Given the description of an element on the screen output the (x, y) to click on. 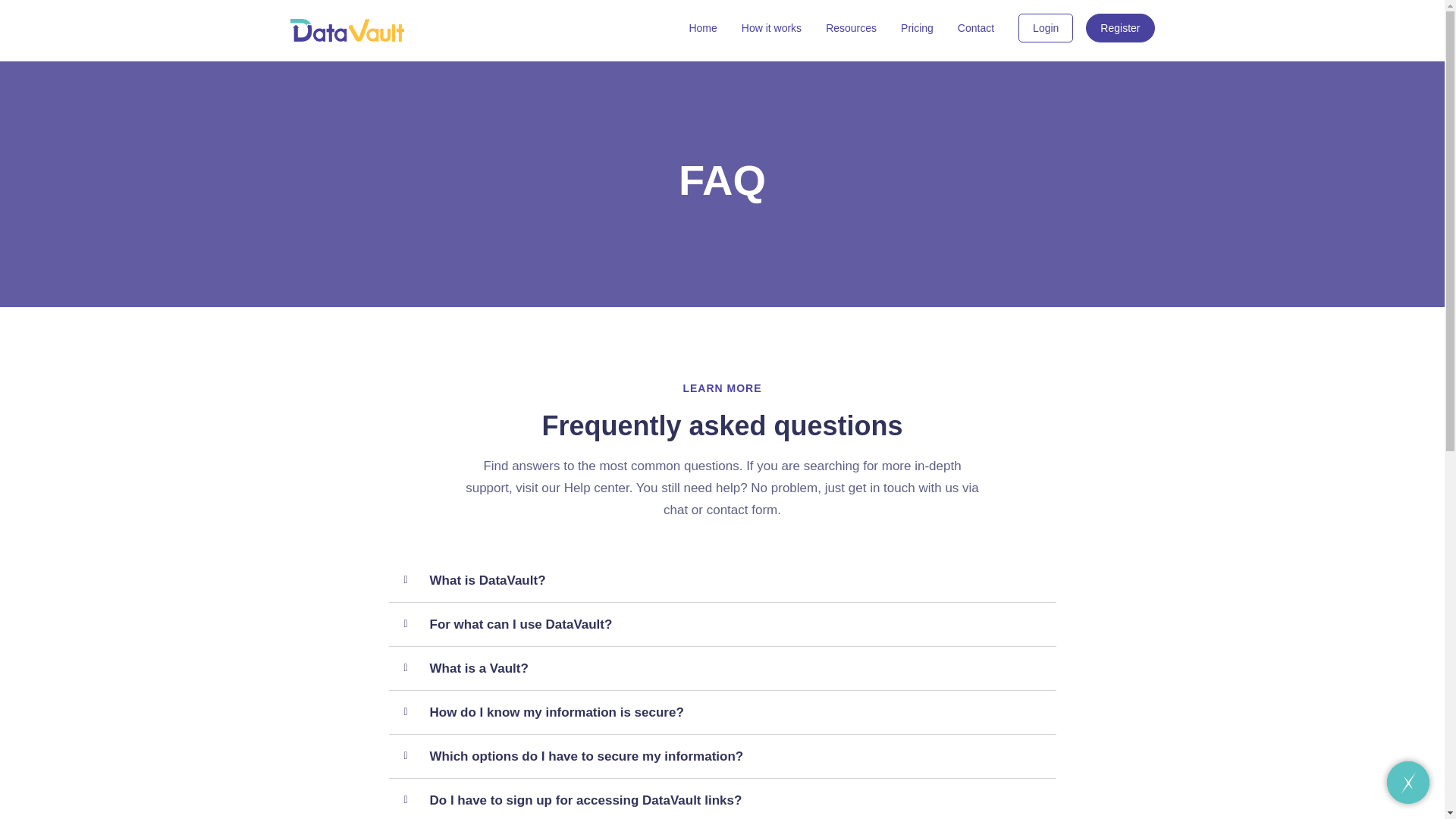
Resources (850, 27)
Contact (976, 27)
Register (1120, 28)
What is a Vault? (478, 668)
How do I know my information is secure? (555, 712)
How it works (771, 27)
Which options do I have to secure my information? (585, 755)
What is DataVault? (486, 579)
For what can I use DataVault? (520, 624)
Login (1045, 27)
Do I have to sign up for accessing DataVault links? (585, 798)
